Given the description of an element on the screen output the (x, y) to click on. 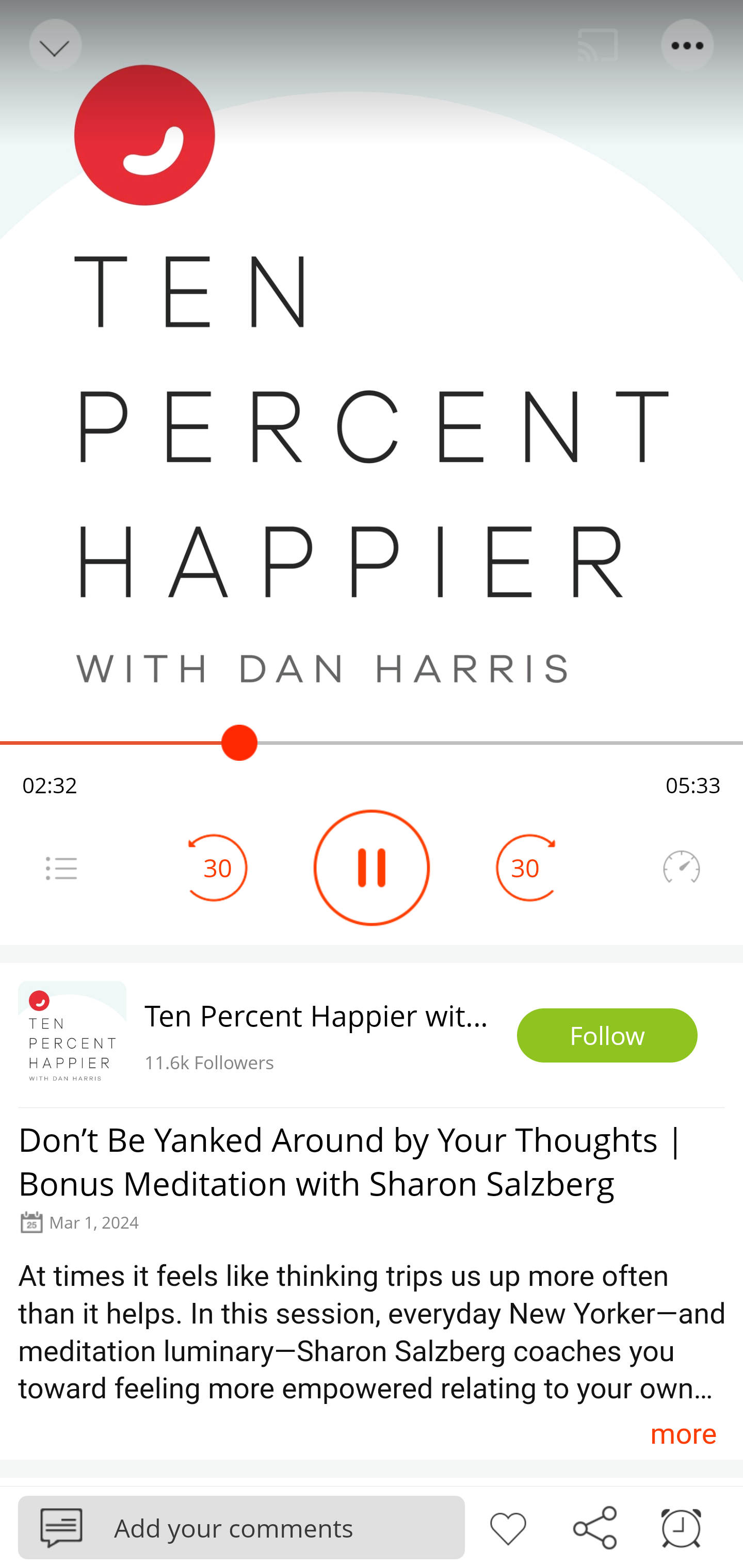
Back (53, 45)
Cast. Disconnected (597, 45)
Menu (688, 45)
Play (371, 867)
30 Seek Backward (217, 867)
30 Seek Forward (525, 867)
Menu (60, 867)
Speedometer (681, 867)
Follow (607, 1035)
more (682, 1432)
Like (508, 1526)
Share (594, 1526)
Sleep timer (681, 1526)
Podbean Add your comments (241, 1526)
